Given the description of an element on the screen output the (x, y) to click on. 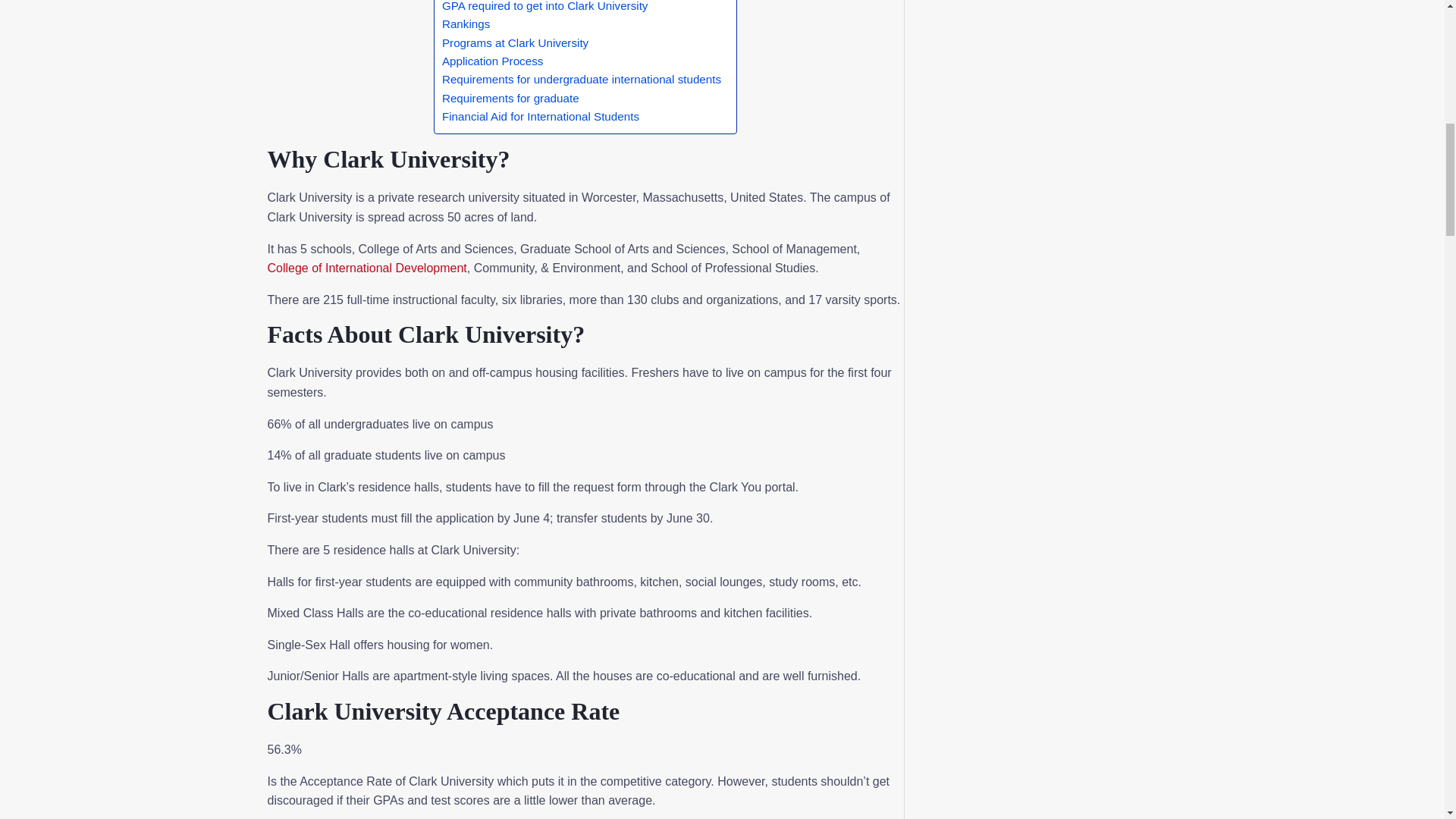
Programs at Clark University (515, 43)
Rankings (465, 24)
Application Process (492, 61)
Requirements for undergraduate international students (581, 79)
GPA required to get into Clark University  (546, 7)
Requirements for graduate  (512, 98)
Requirements for undergraduate international students (581, 79)
Rankings (465, 24)
Programs at Clark University (515, 43)
Application Process (492, 61)
